Given the description of an element on the screen output the (x, y) to click on. 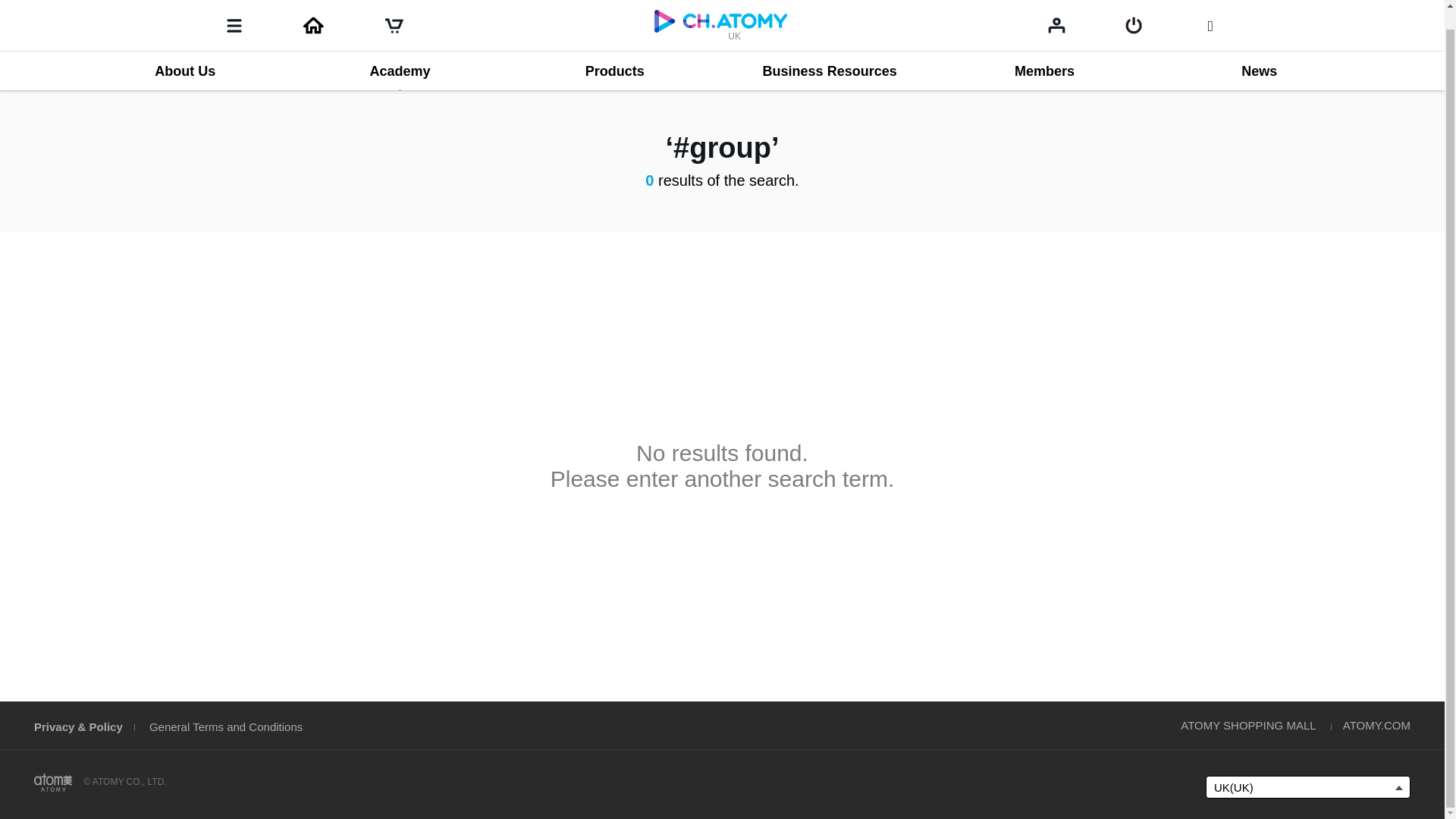
Products (614, 52)
Members (1044, 52)
Academy (399, 52)
About Us (184, 52)
UK (720, 11)
Business Resources (829, 52)
